Given the description of an element on the screen output the (x, y) to click on. 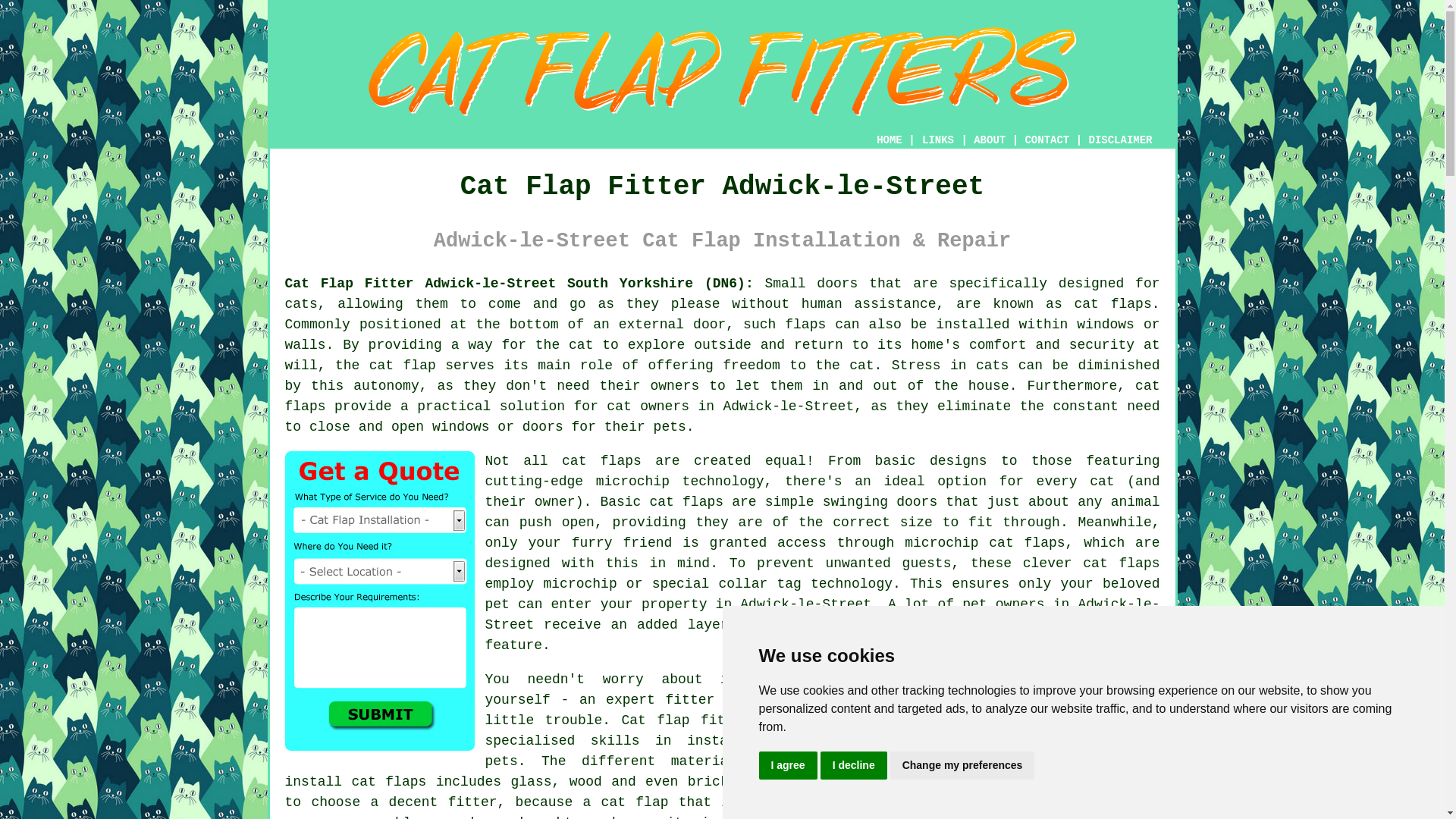
HOME (889, 140)
Adwick-le-Street Cat Flap Fitting Quotes (379, 601)
I agree (787, 765)
Cat Flap Fitter Adwick-le-Street South Yorkshire (1046, 744)
I decline (853, 765)
fitter (689, 699)
Cat Flap Fitter Adwick-le-Street (721, 71)
Change my preferences (962, 765)
cat flaps (686, 501)
cat flaps (1112, 304)
LINKS (938, 140)
